Given the description of an element on the screen output the (x, y) to click on. 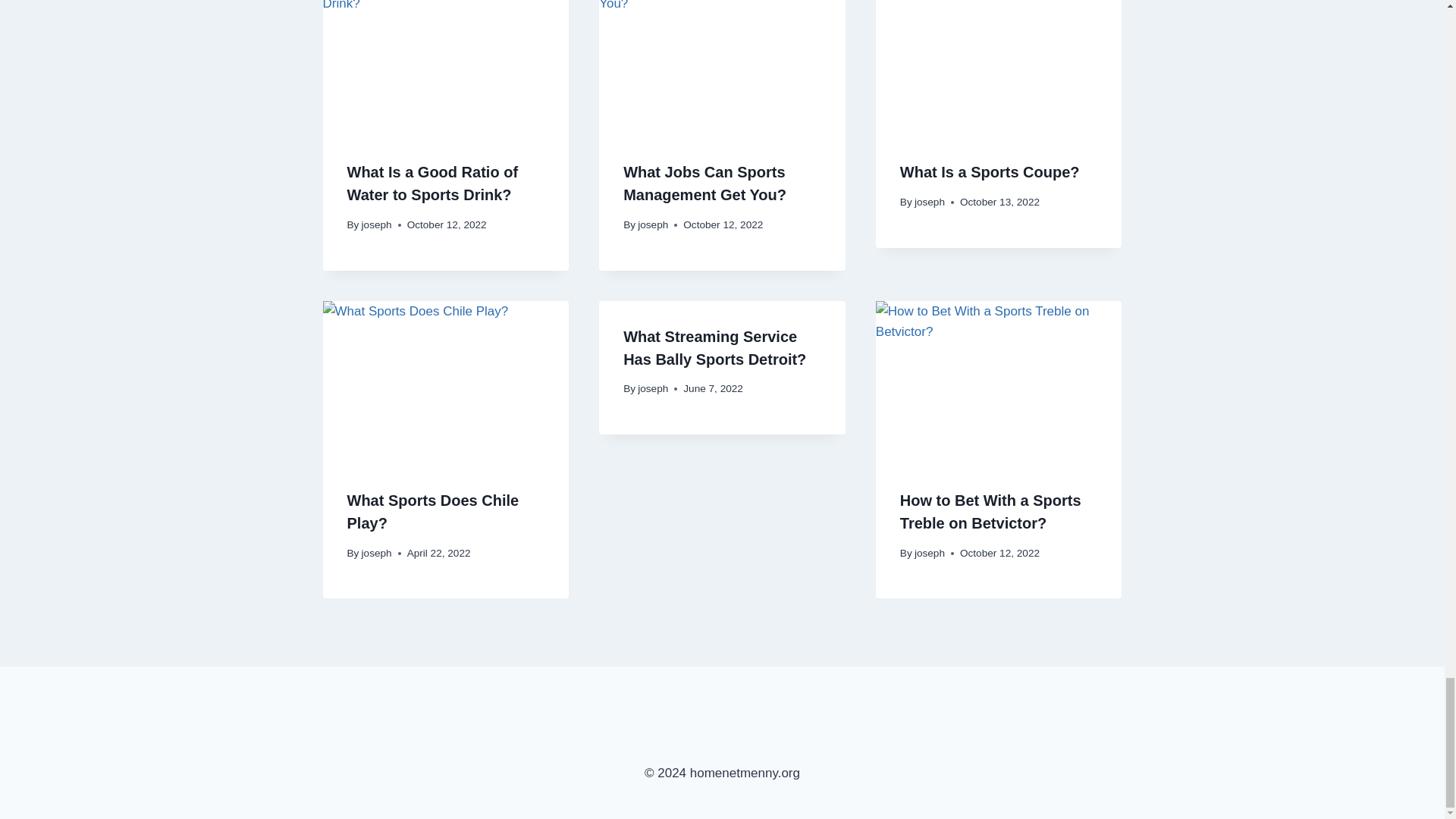
joseph (929, 202)
What Jobs Can Sports Management Get You? (704, 183)
What Is a Sports Coupe? (989, 171)
joseph (652, 224)
joseph (376, 224)
What Is a Good Ratio of Water to Sports Drink? (432, 183)
